Given the description of an element on the screen output the (x, y) to click on. 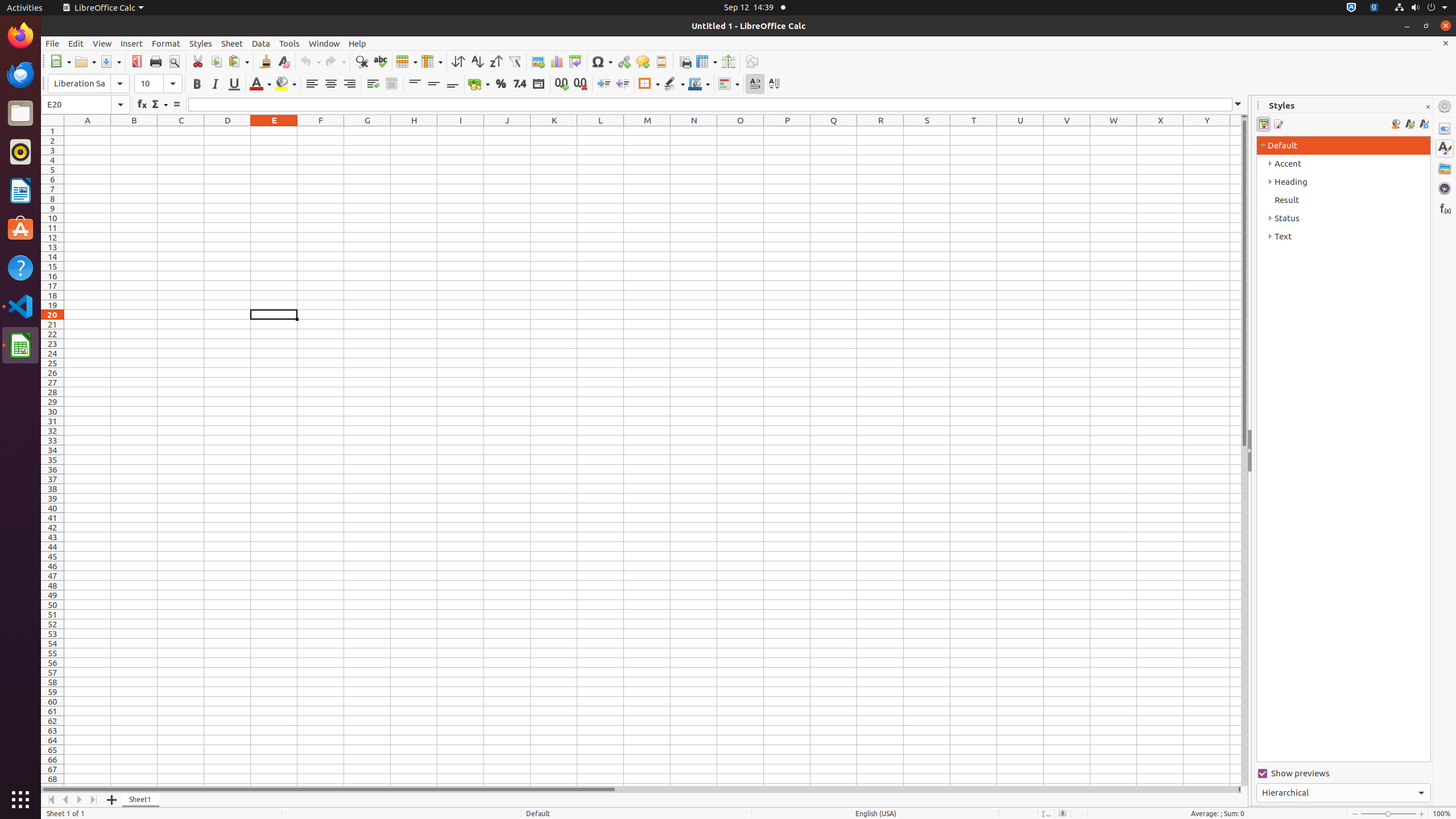
Tools Element type: menu (289, 43)
X1 Element type: table-cell (1159, 130)
Sort Ascending Element type: push-button (476, 61)
:1.72/StatusNotifierItem Element type: menu (1350, 7)
Number Element type: push-button (519, 83)
